Given the description of an element on the screen output the (x, y) to click on. 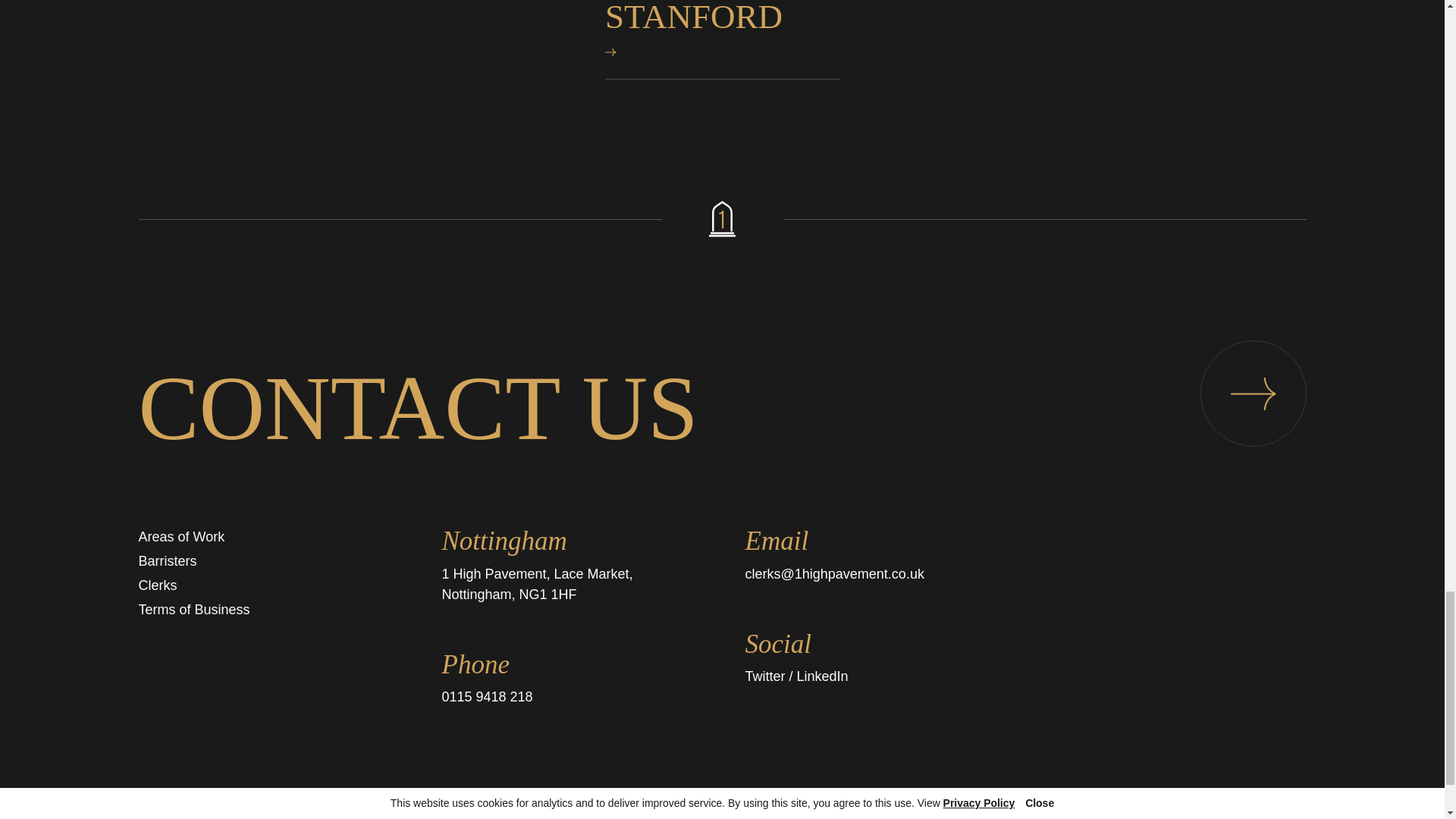
Barristers (167, 560)
Areas of Work (181, 536)
CONTACT US (722, 408)
Clerks (157, 585)
